Given the description of an element on the screen output the (x, y) to click on. 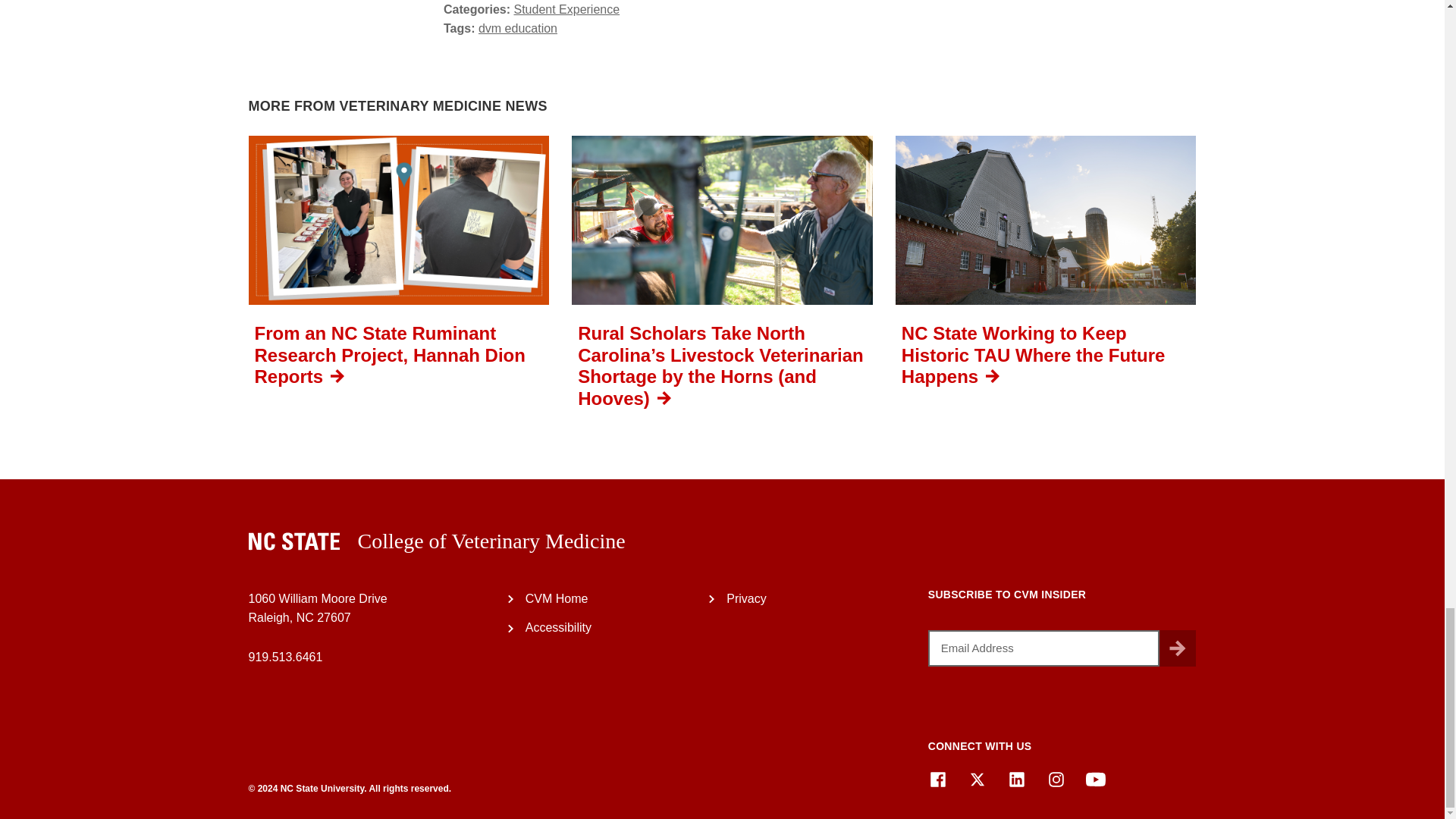
Facebook (937, 779)
Instagram (1055, 779)
YouTube (1095, 779)
X (977, 779)
LinkedIn (1016, 779)
